Given the description of an element on the screen output the (x, y) to click on. 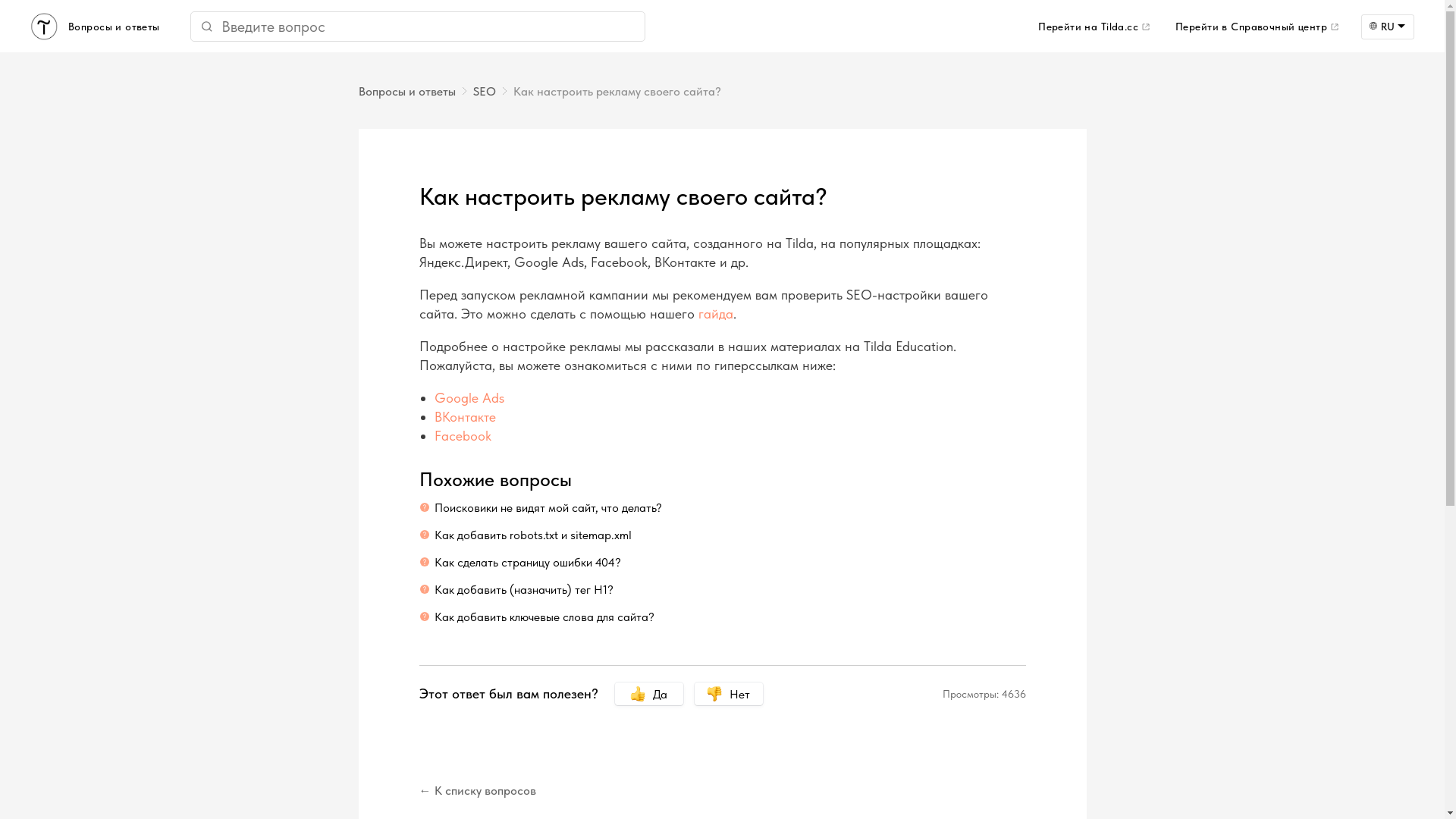
Google Ads Element type: text (468, 397)
Facebook Element type: text (461, 435)
SEO Element type: text (493, 91)
